Given the description of an element on the screen output the (x, y) to click on. 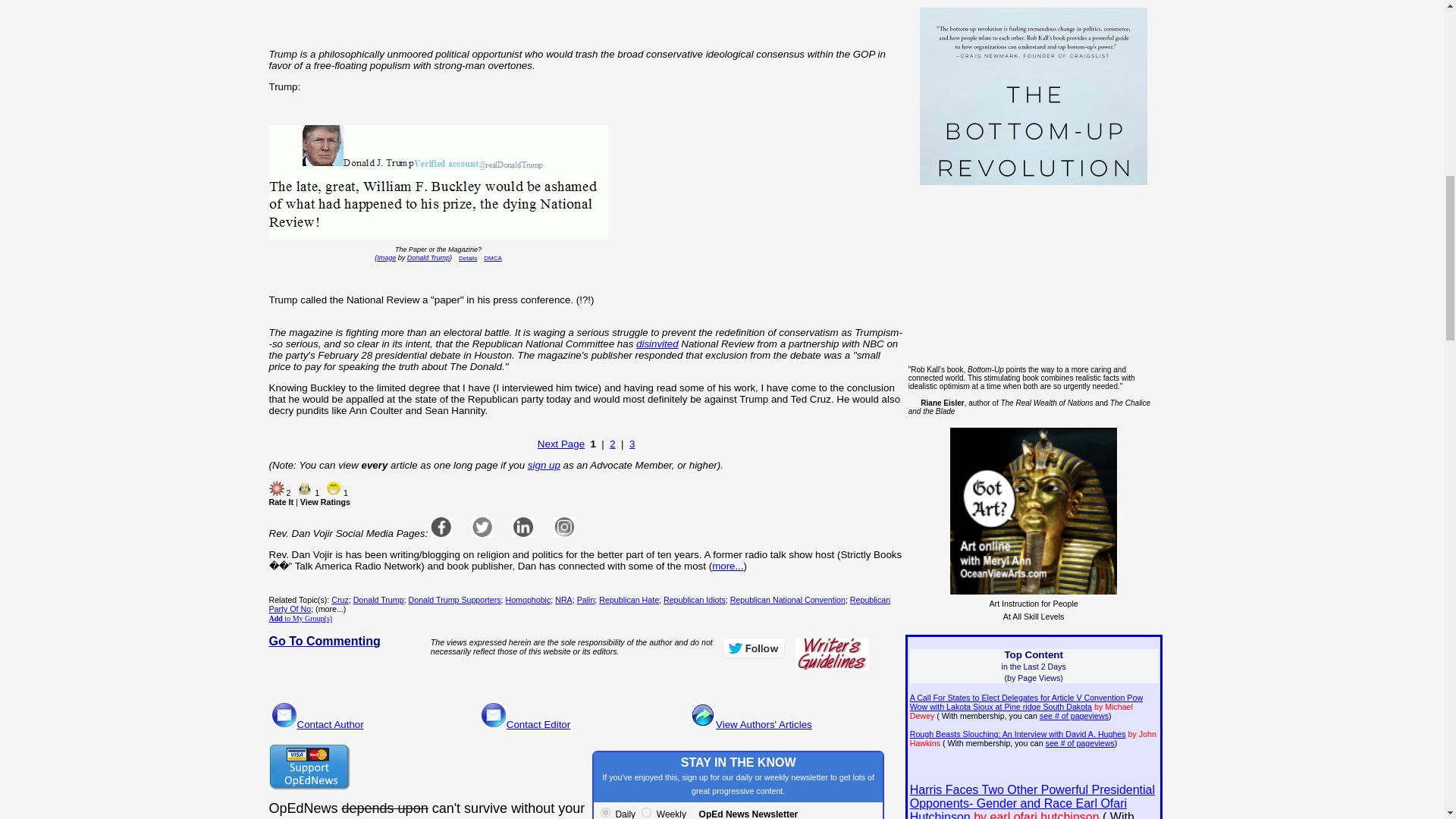
The Paper or the Magazine? (437, 184)
Image (386, 257)
View Ratings (324, 501)
disinvited (657, 343)
Donald Trump (428, 257)
Funny (333, 488)
Twitter page url on login Profile not filled in (482, 526)
sign up (543, 464)
Advertisement (397, 20)
Next Page (561, 443)
